Given the description of an element on the screen output the (x, y) to click on. 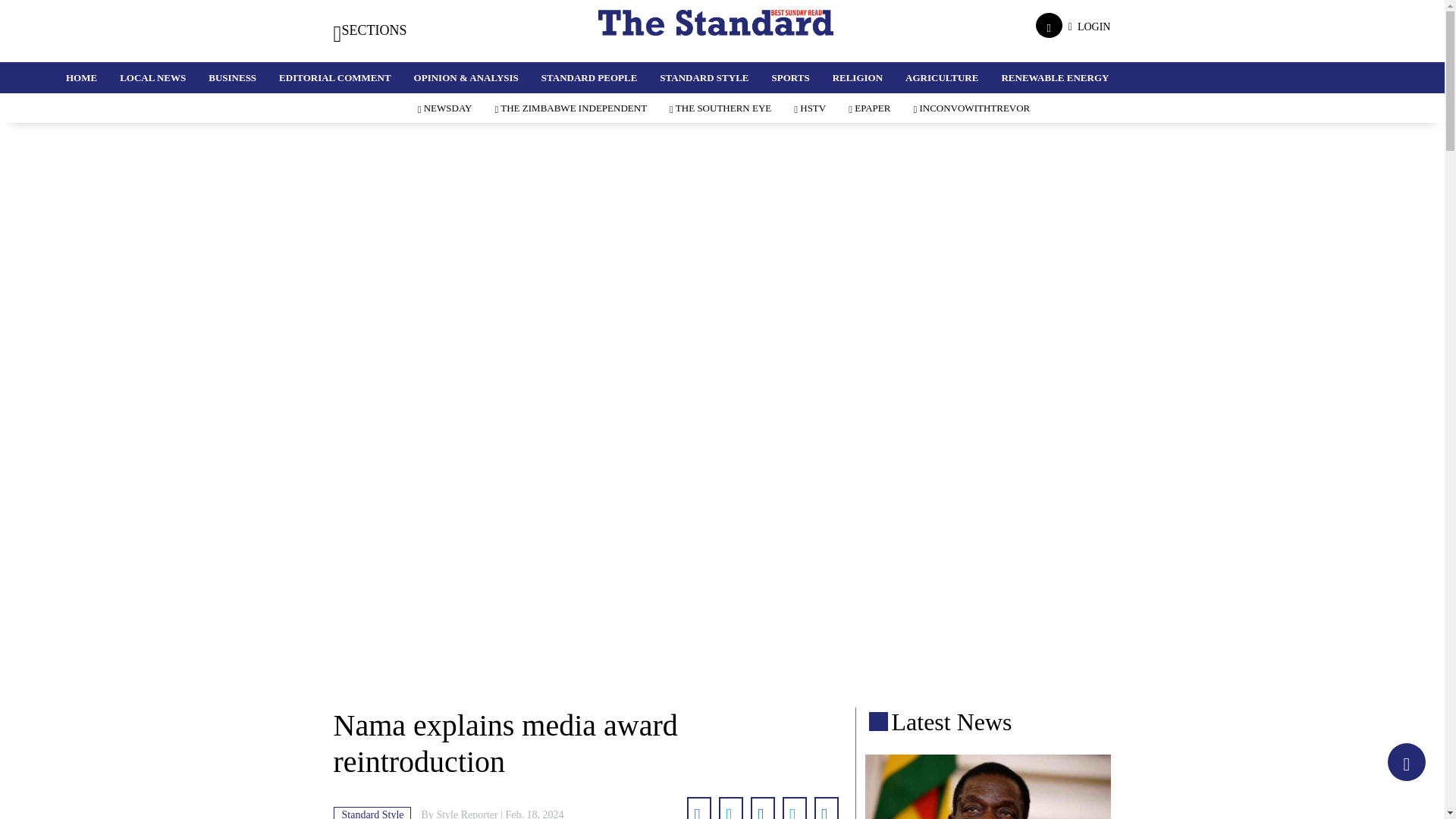
3rd party ad content (721, 658)
